Given the description of an element on the screen output the (x, y) to click on. 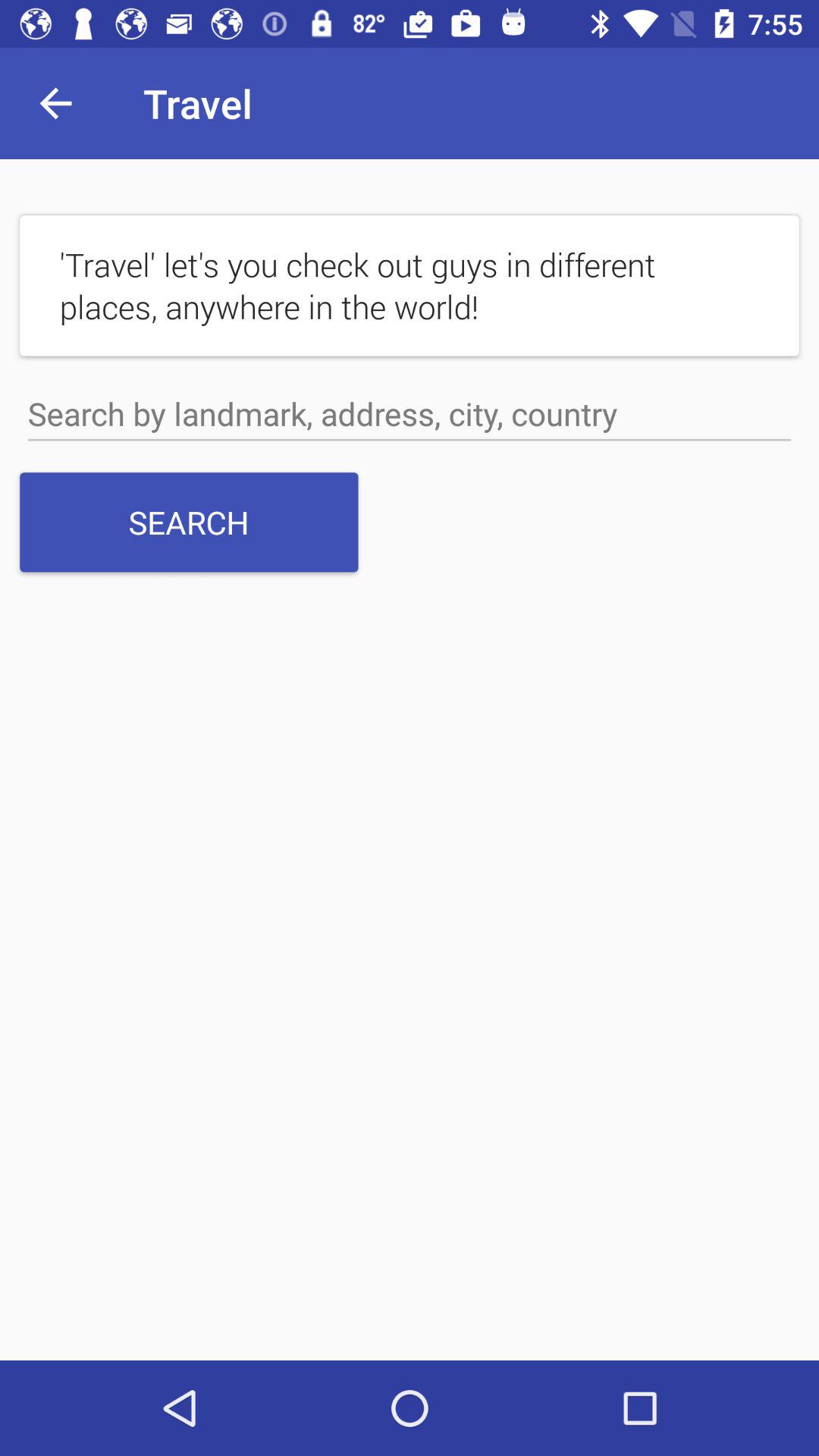
search for location (409, 413)
